Given the description of an element on the screen output the (x, y) to click on. 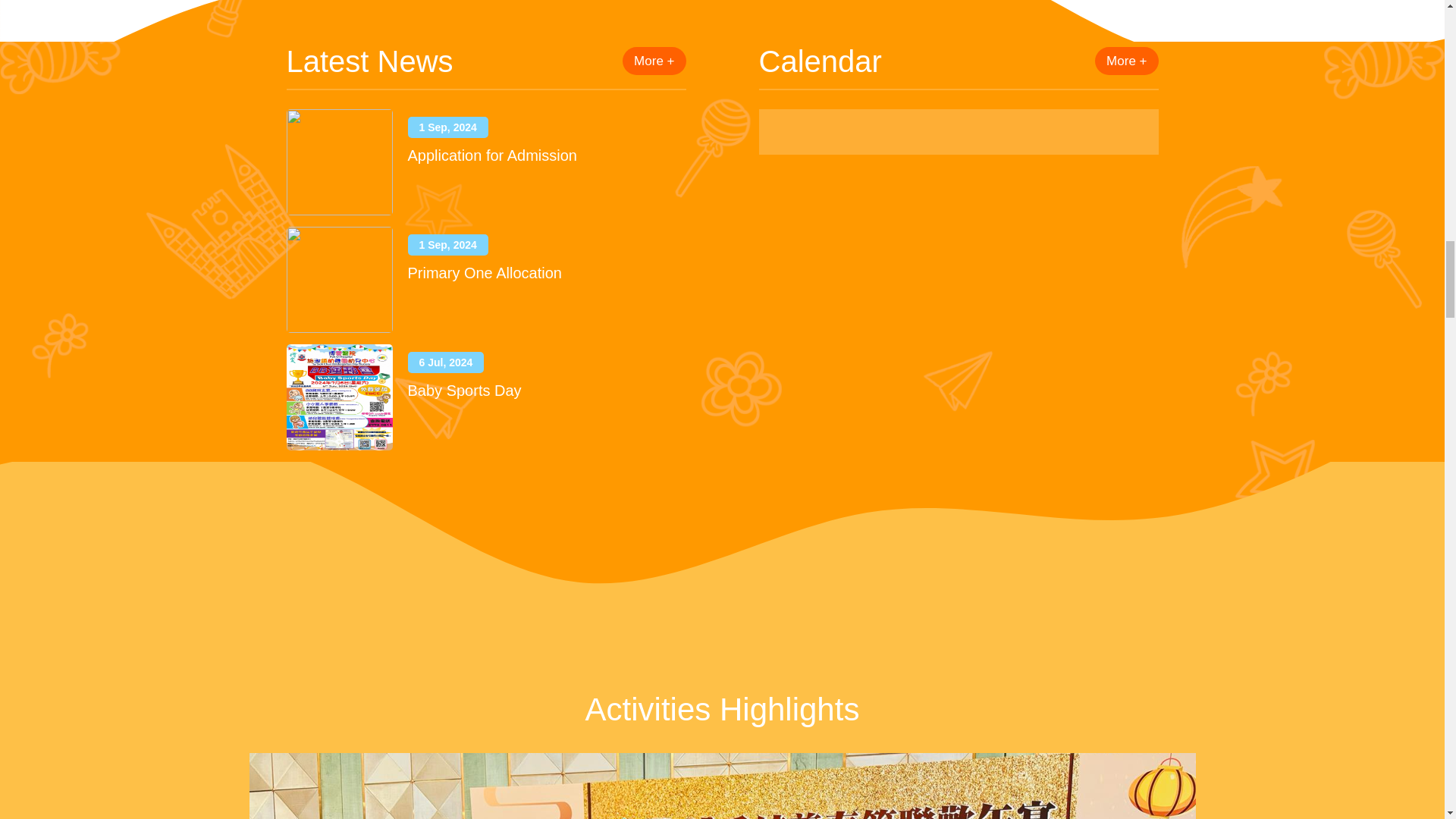
Primary One Allocation (484, 272)
Application for Admission (491, 155)
